Given the description of an element on the screen output the (x, y) to click on. 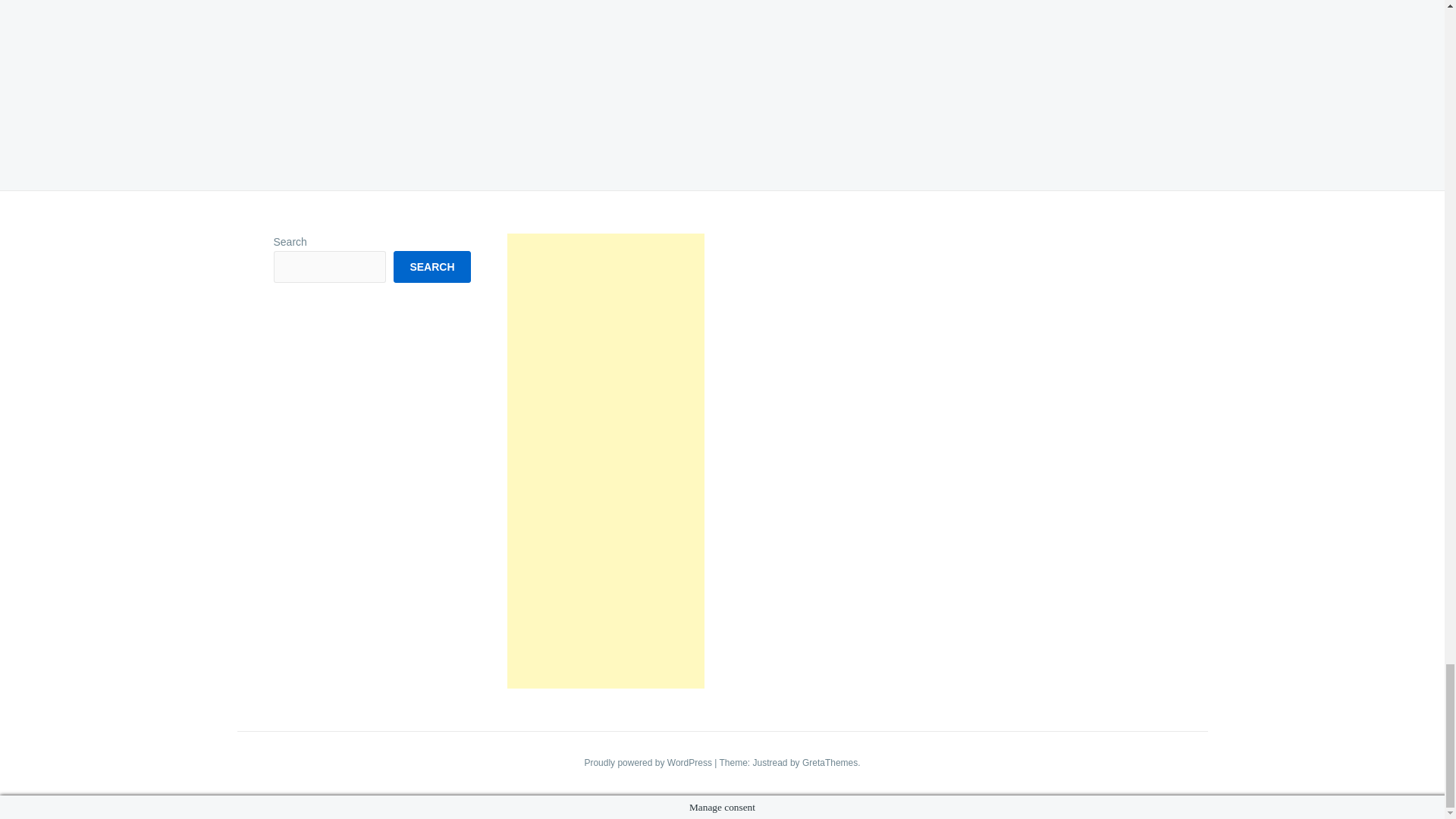
Proudly powered by WordPress (648, 762)
SEARCH (431, 266)
GretaThemes (829, 762)
